Given the description of an element on the screen output the (x, y) to click on. 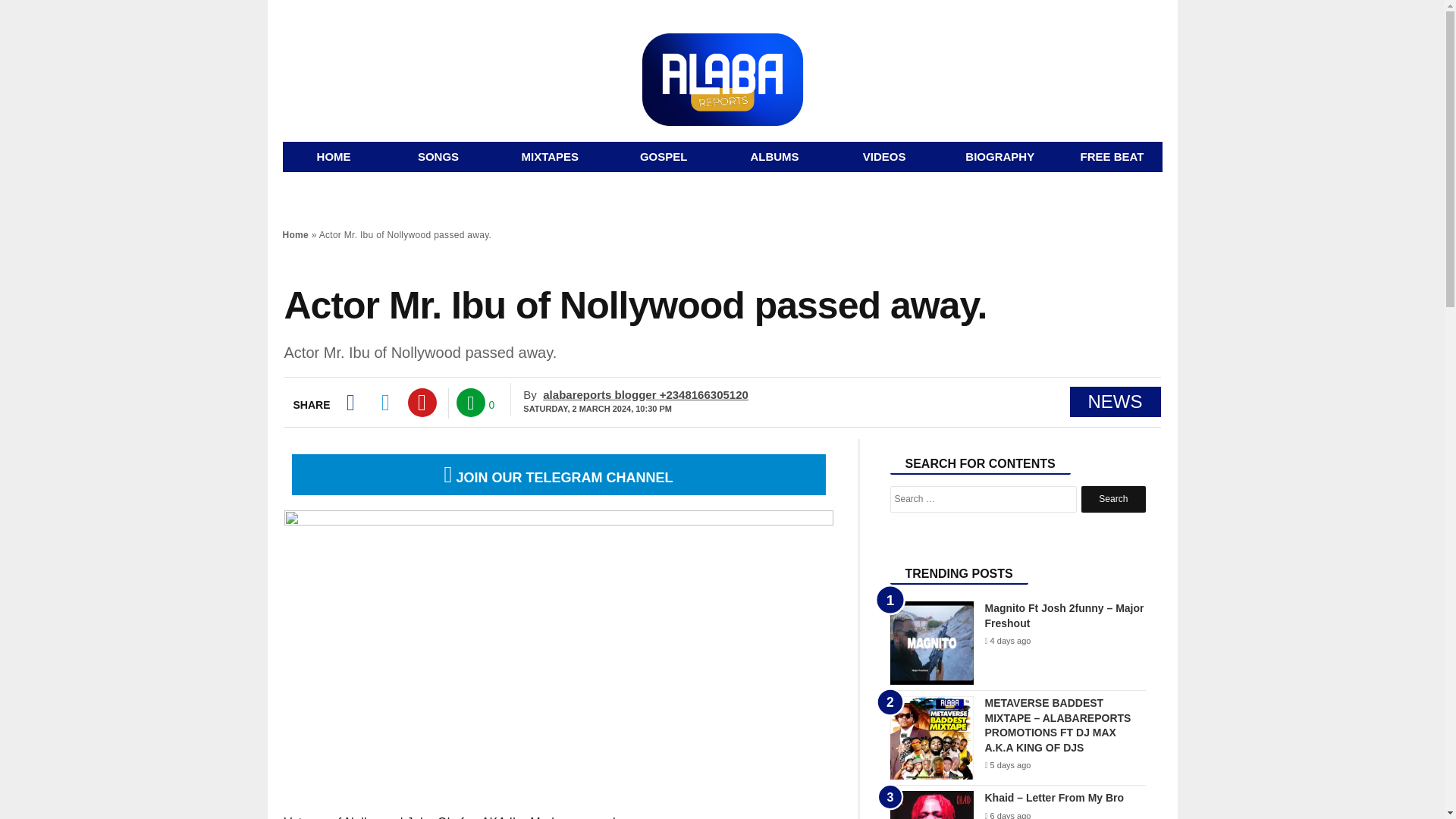
Albums (774, 156)
Comments (470, 402)
pinterest (421, 402)
Facebook (349, 402)
Home (333, 156)
ALBUMS (774, 156)
News (663, 156)
Songs (438, 156)
Mixtapes (550, 156)
GOSPEL (663, 156)
Twitter (385, 402)
MIXTAPES (550, 156)
Home (295, 235)
JOIN OUR TELEGRAM CHANNEL (558, 477)
SONGS (438, 156)
